Given the description of an element on the screen output the (x, y) to click on. 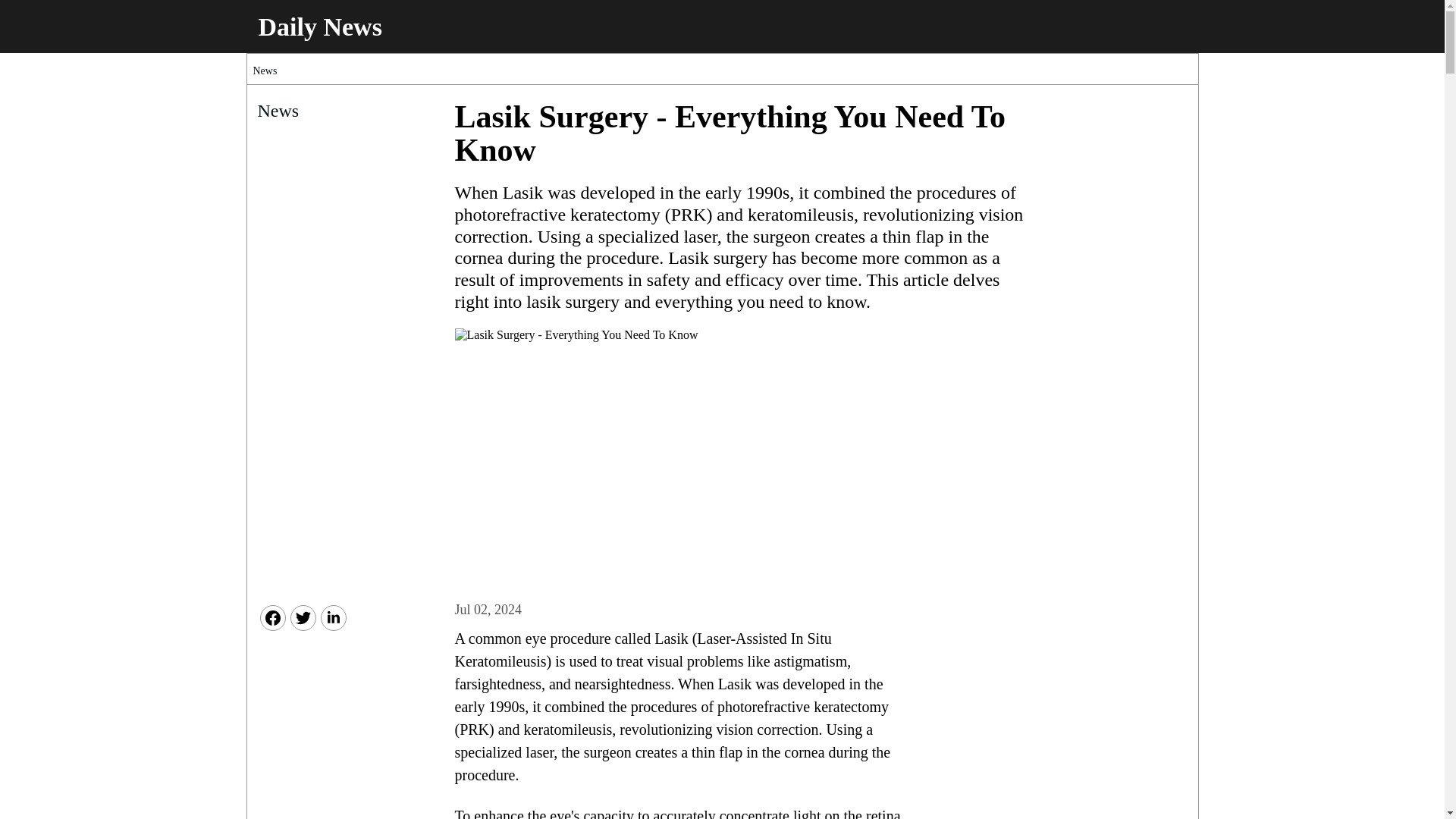
Share this article on LinkedIn (333, 617)
News (265, 70)
News (329, 111)
Daily News (319, 27)
Share this article on Facebook (272, 617)
Share this article on Twitter (302, 617)
